Given the description of an element on the screen output the (x, y) to click on. 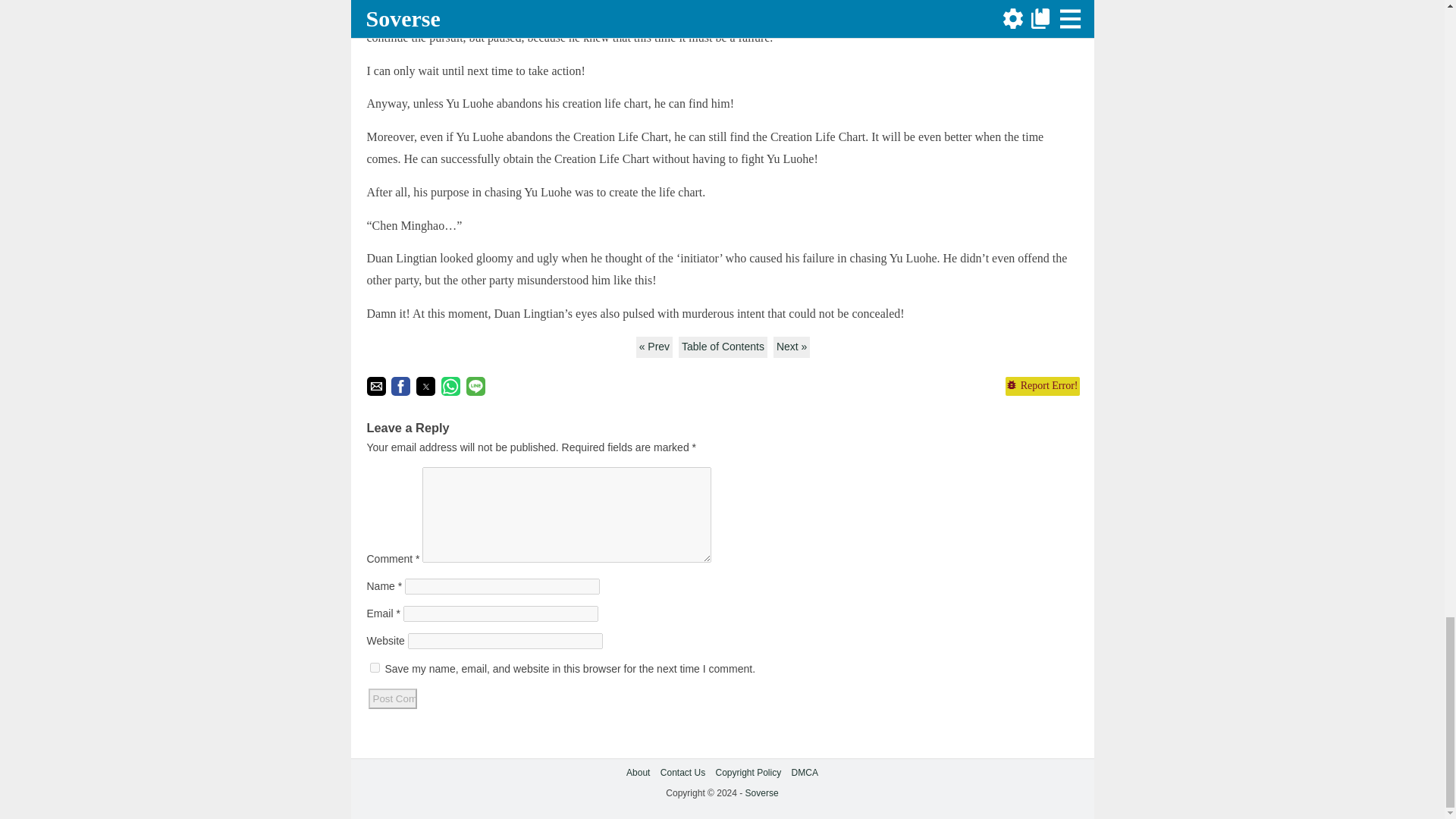
Copyright Policy (748, 772)
yes (374, 667)
Post Comment (392, 698)
About (637, 772)
Soverse (761, 792)
Post Comment (392, 698)
Report Error! (1041, 385)
Contact Us (682, 772)
Table of Contents (722, 346)
DMCA (805, 772)
